Given the description of an element on the screen output the (x, y) to click on. 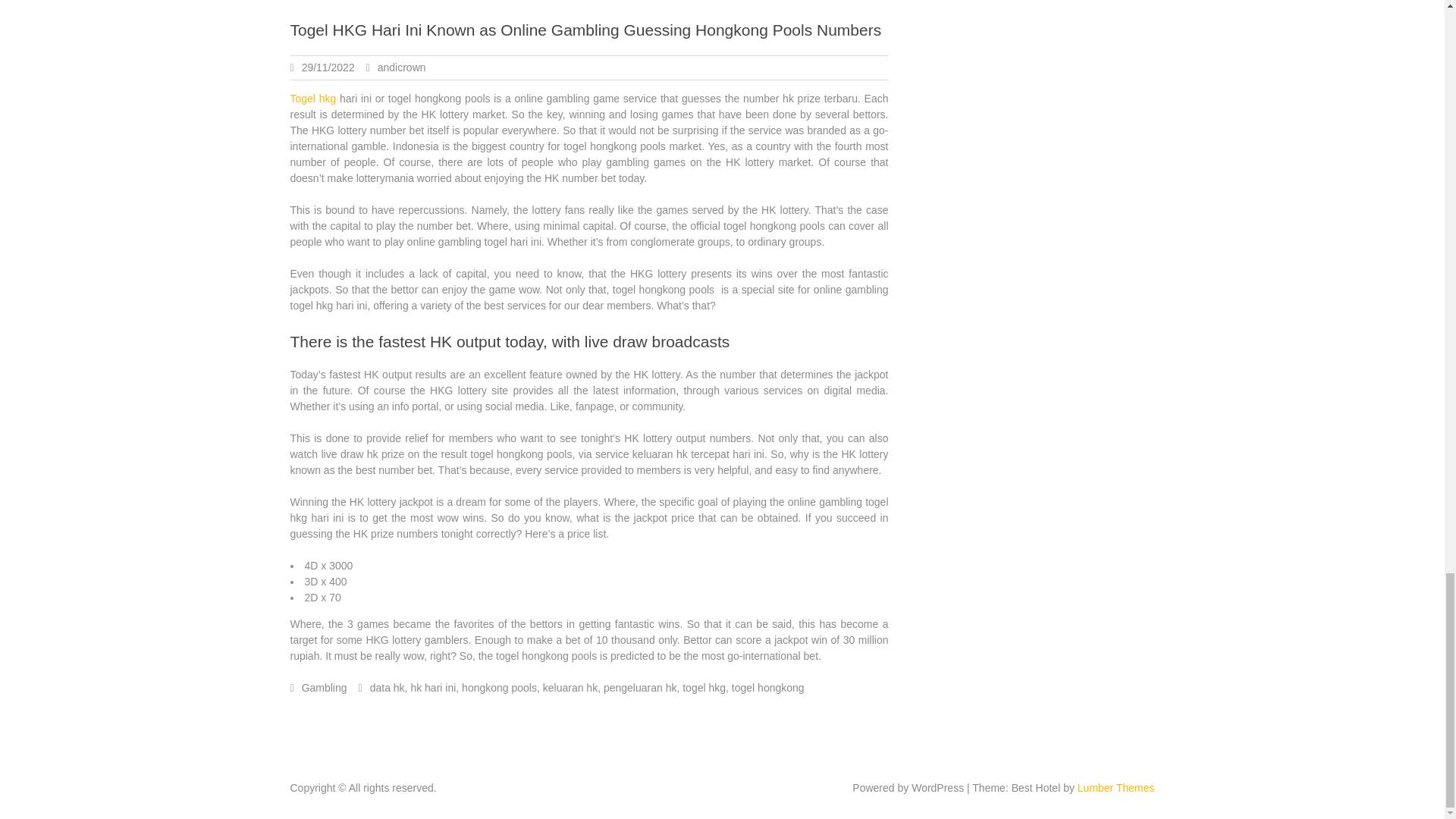
data hk (386, 687)
keluaran hk (569, 687)
Gambling (324, 687)
togel hkg (703, 687)
hongkong pools (499, 687)
togel hongkong (768, 687)
andicrown (401, 67)
hk hari ini (432, 687)
Togel hkg (312, 98)
